Given the description of an element on the screen output the (x, y) to click on. 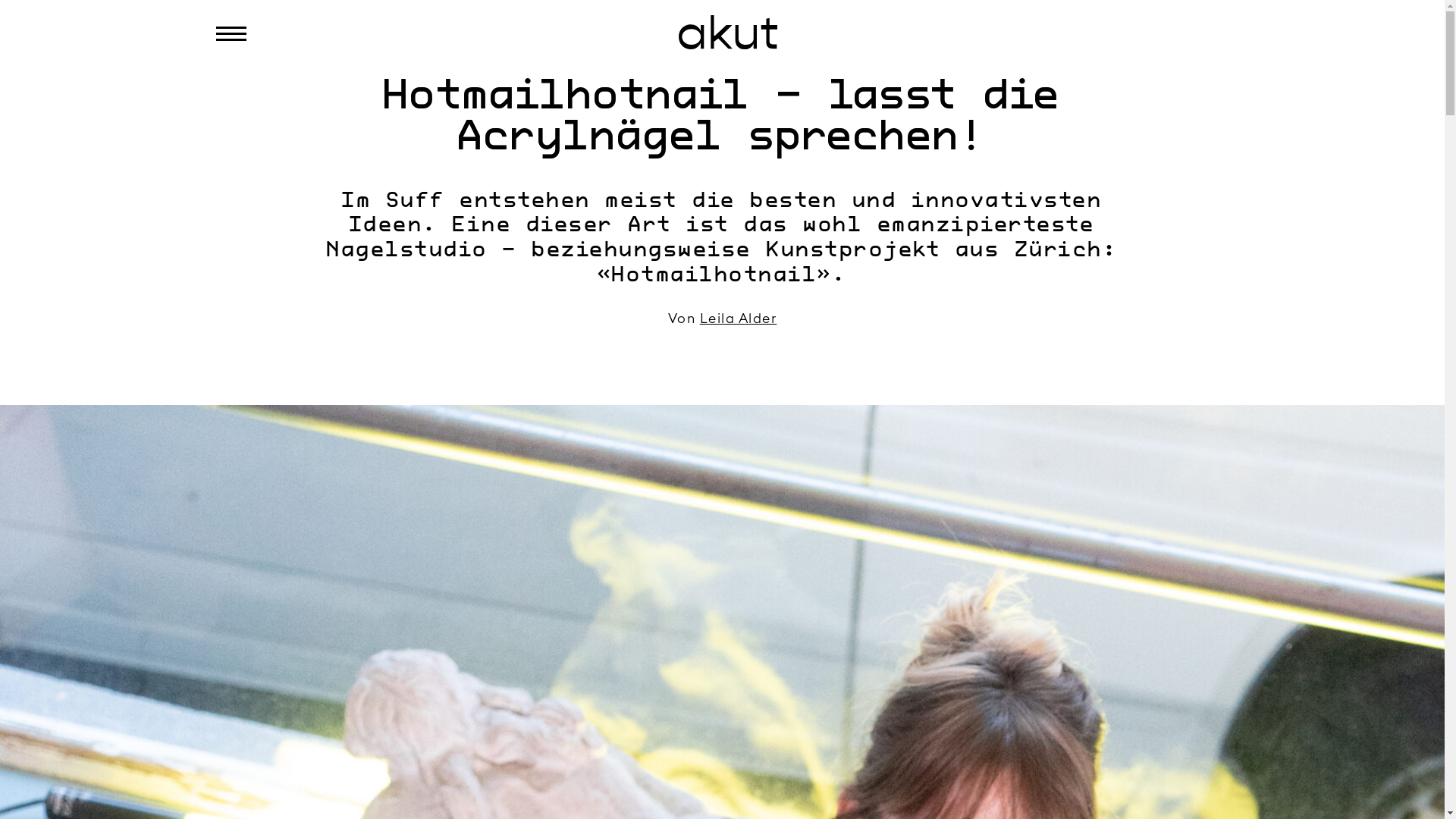
Leila Alder Element type: text (738, 318)
